Given the description of an element on the screen output the (x, y) to click on. 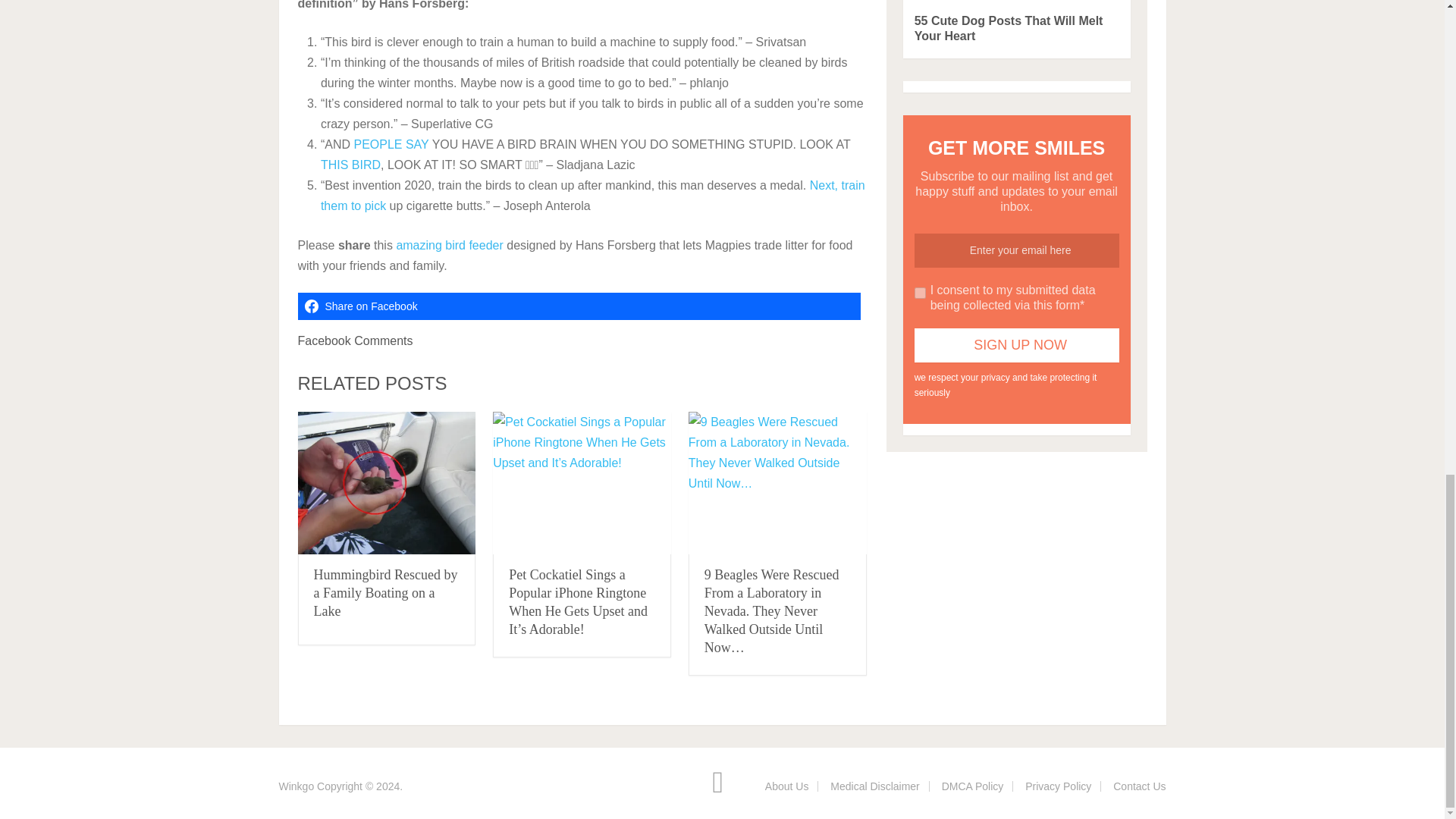
Hummingbird Rescued by a Family Boating on a Lake (386, 483)
Hummingbird Rescued by a Family Boating on a Lake (386, 593)
PEOPLE SAY (390, 144)
Sign Up Now (1016, 345)
Share on Share on Facebook (578, 306)
THIS BIRD (350, 164)
on (920, 292)
